Given the description of an element on the screen output the (x, y) to click on. 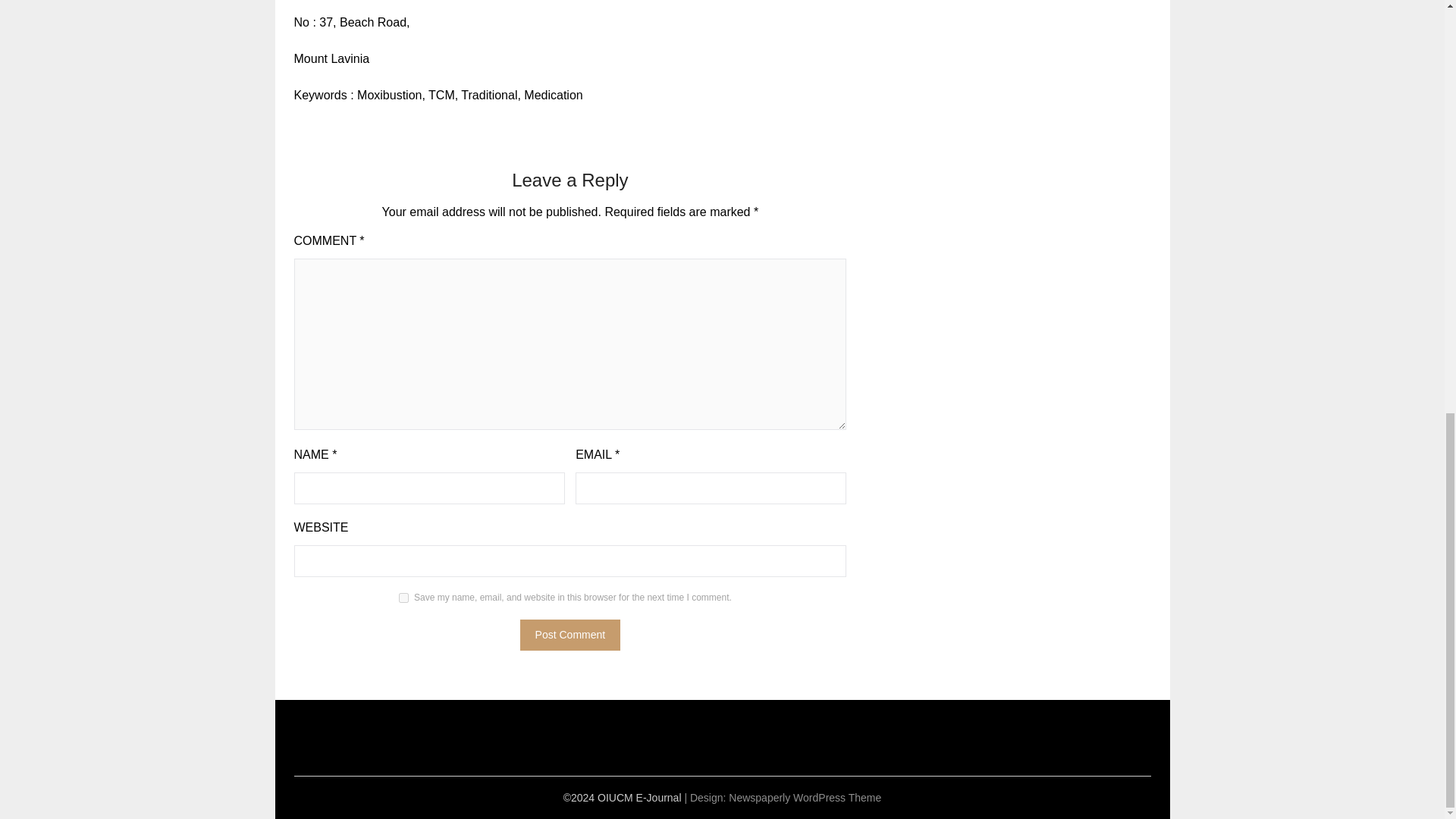
Post Comment (570, 634)
Newspaperly WordPress Theme (804, 797)
Post Comment (570, 634)
yes (403, 597)
